Given the description of an element on the screen output the (x, y) to click on. 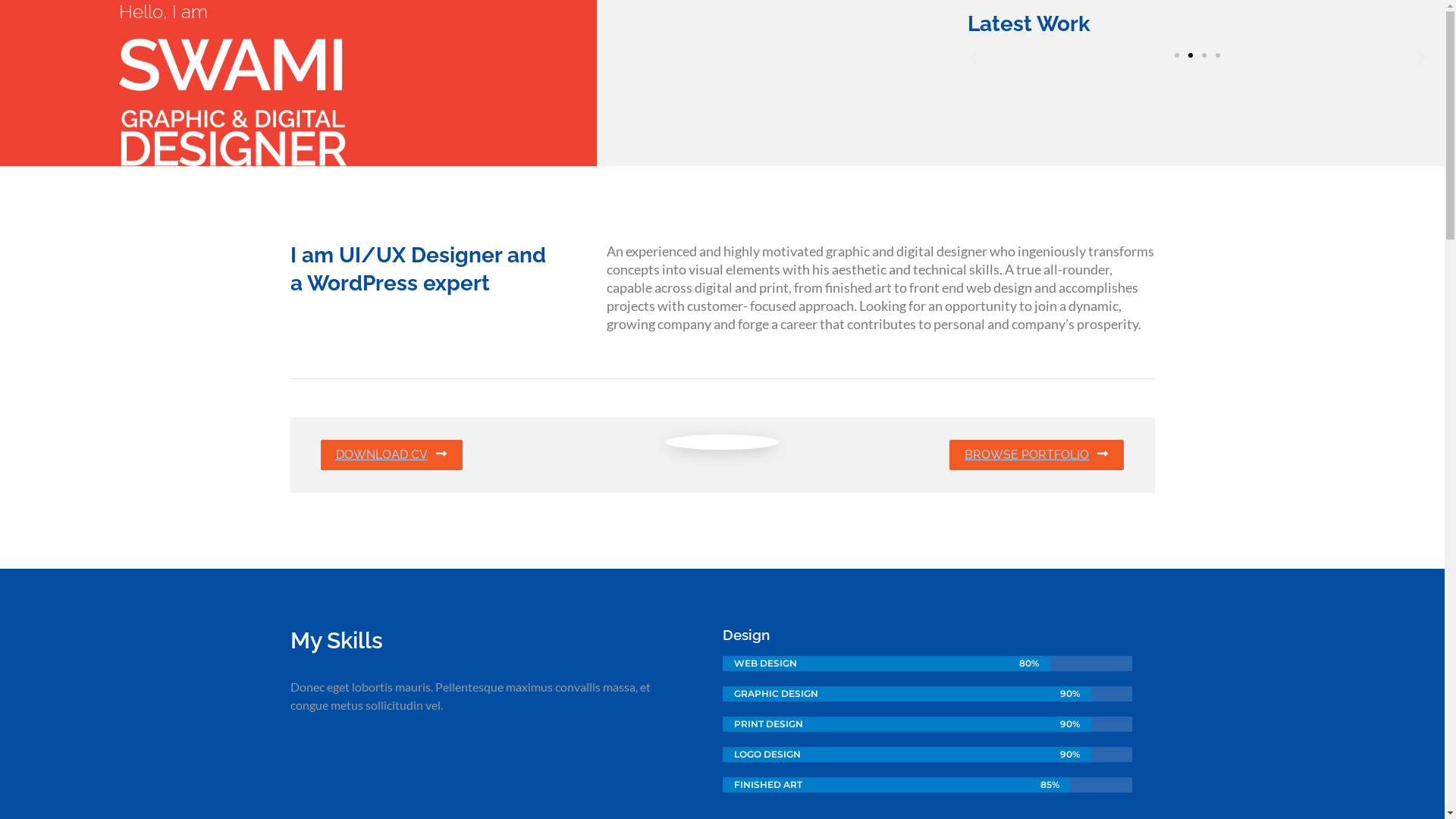
DOWNLOAD CV Element type: text (390, 454)
BROWSE PORTFOLIO Element type: text (1036, 454)
